Given the description of an element on the screen output the (x, y) to click on. 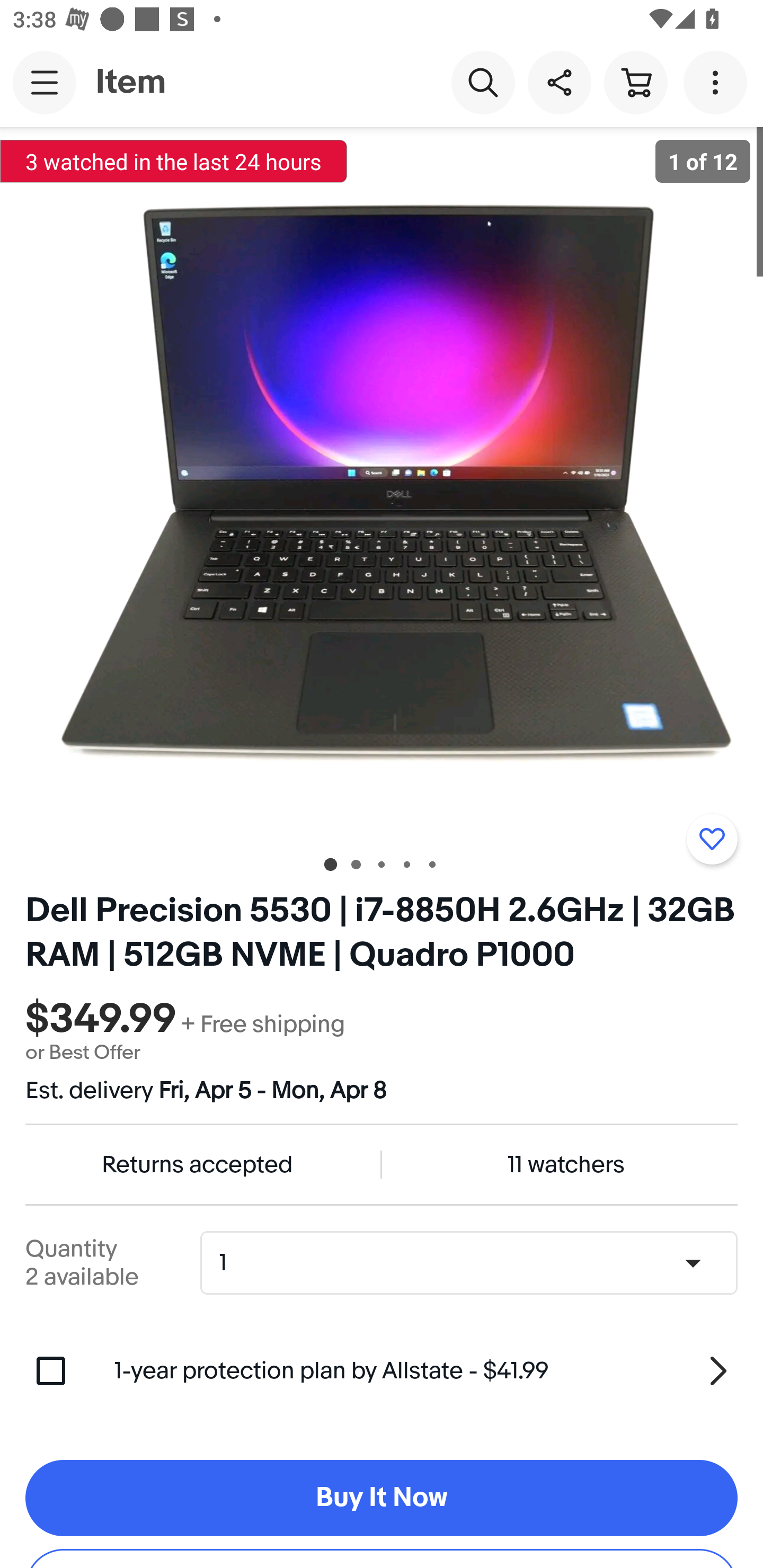
Main navigation, open (44, 82)
Search (482, 81)
Share this item (559, 81)
Cart button shopping cart (635, 81)
More options (718, 81)
Item image 1 of 12 (381, 482)
3 watched in the last 24 hours (173, 161)
Add to watchlist (711, 838)
Quantity,1,2 available 1 (474, 1262)
1-year protection plan by Allstate - $41.99 (425, 1370)
Buy It Now (381, 1497)
